Given the description of an element on the screen output the (x, y) to click on. 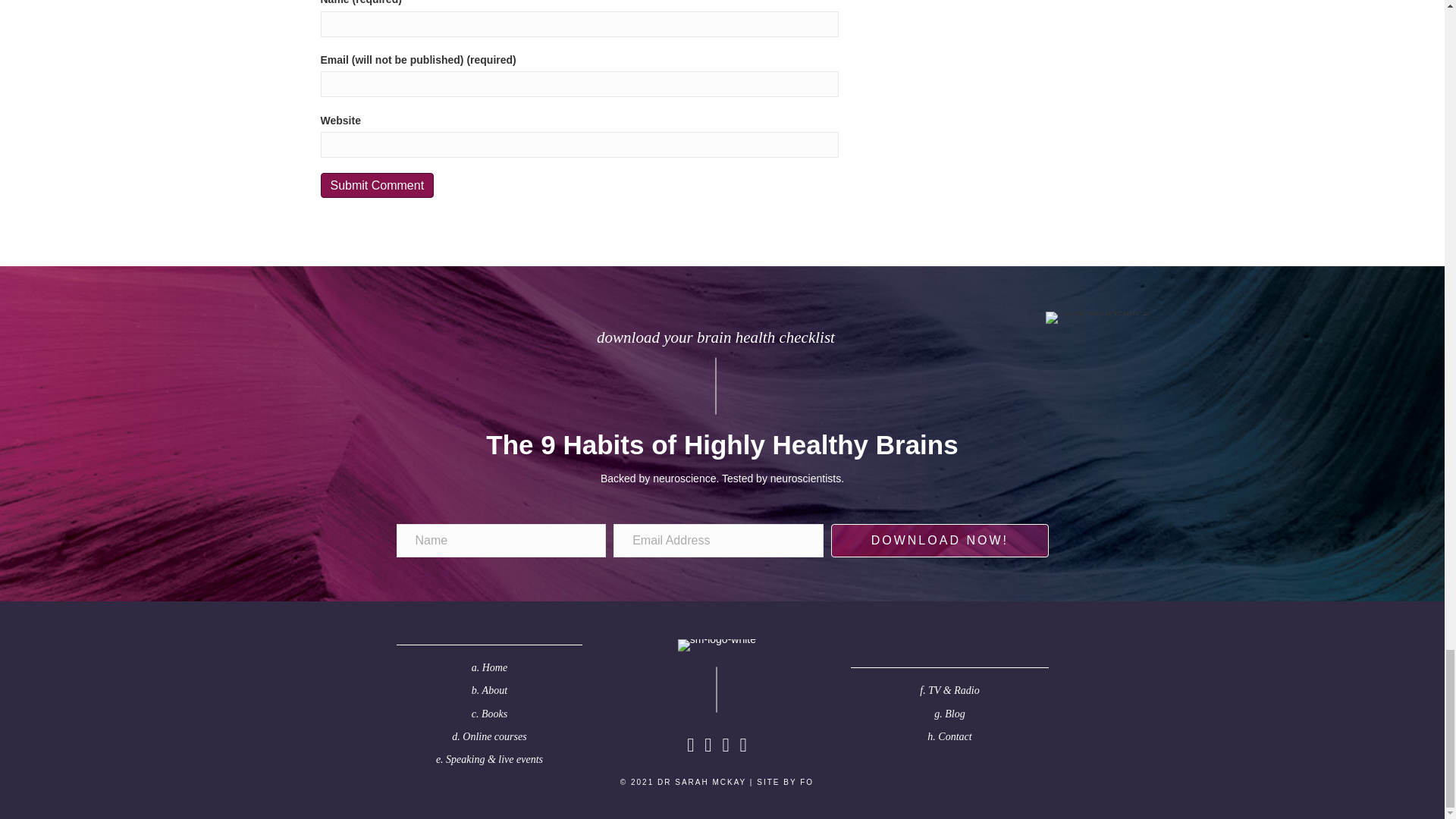
Submit Comment (376, 185)
